Given the description of an element on the screen output the (x, y) to click on. 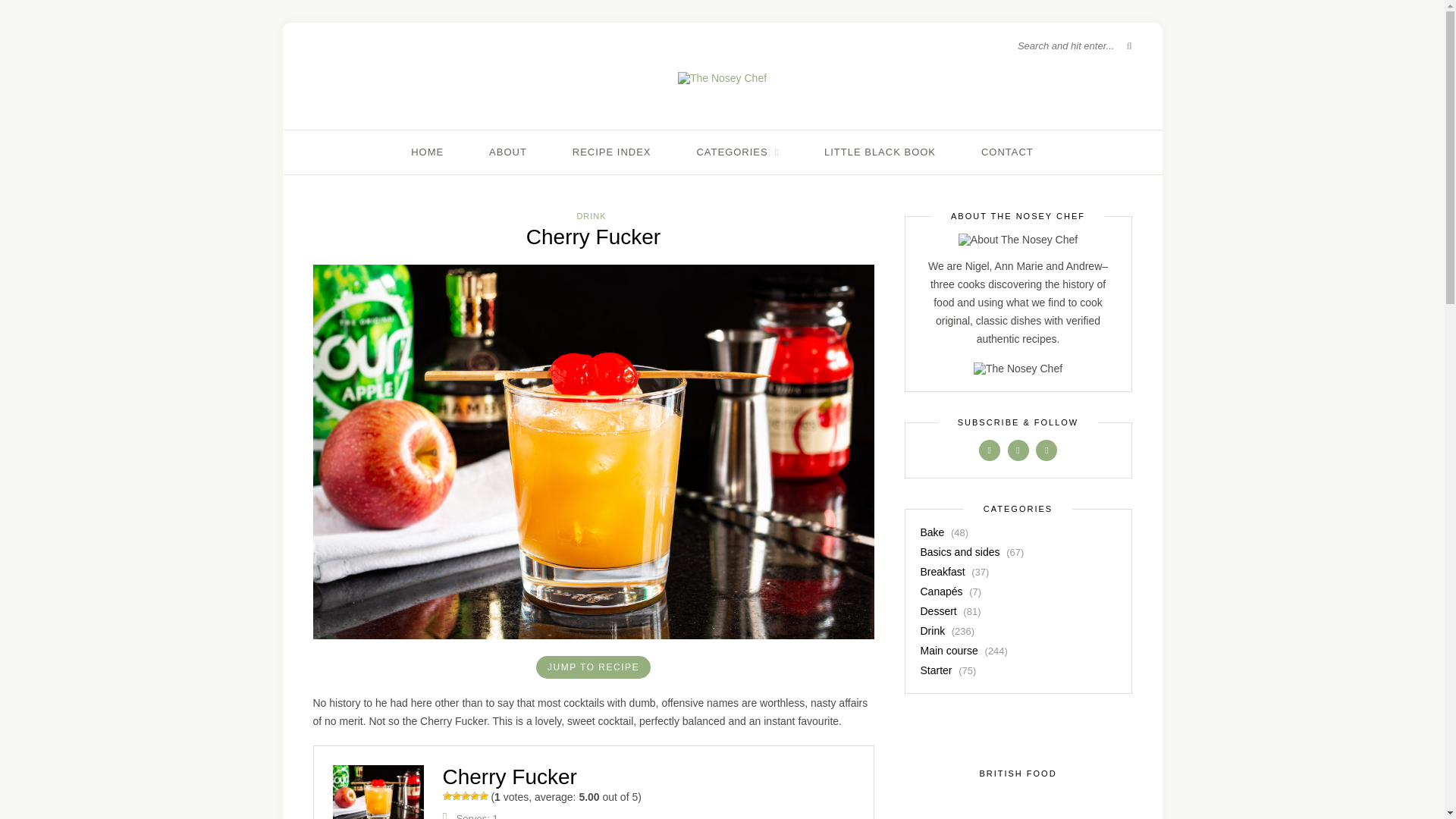
5 Stars (483, 795)
JUMP TO RECIPE (592, 667)
DRINK (590, 215)
LITTLE BLACK BOOK (880, 152)
4 Stars (474, 795)
CONTACT (1007, 152)
2 Stars (456, 795)
1 Star (446, 795)
Bake (932, 532)
CATEGORIES (736, 152)
